Given the description of an element on the screen output the (x, y) to click on. 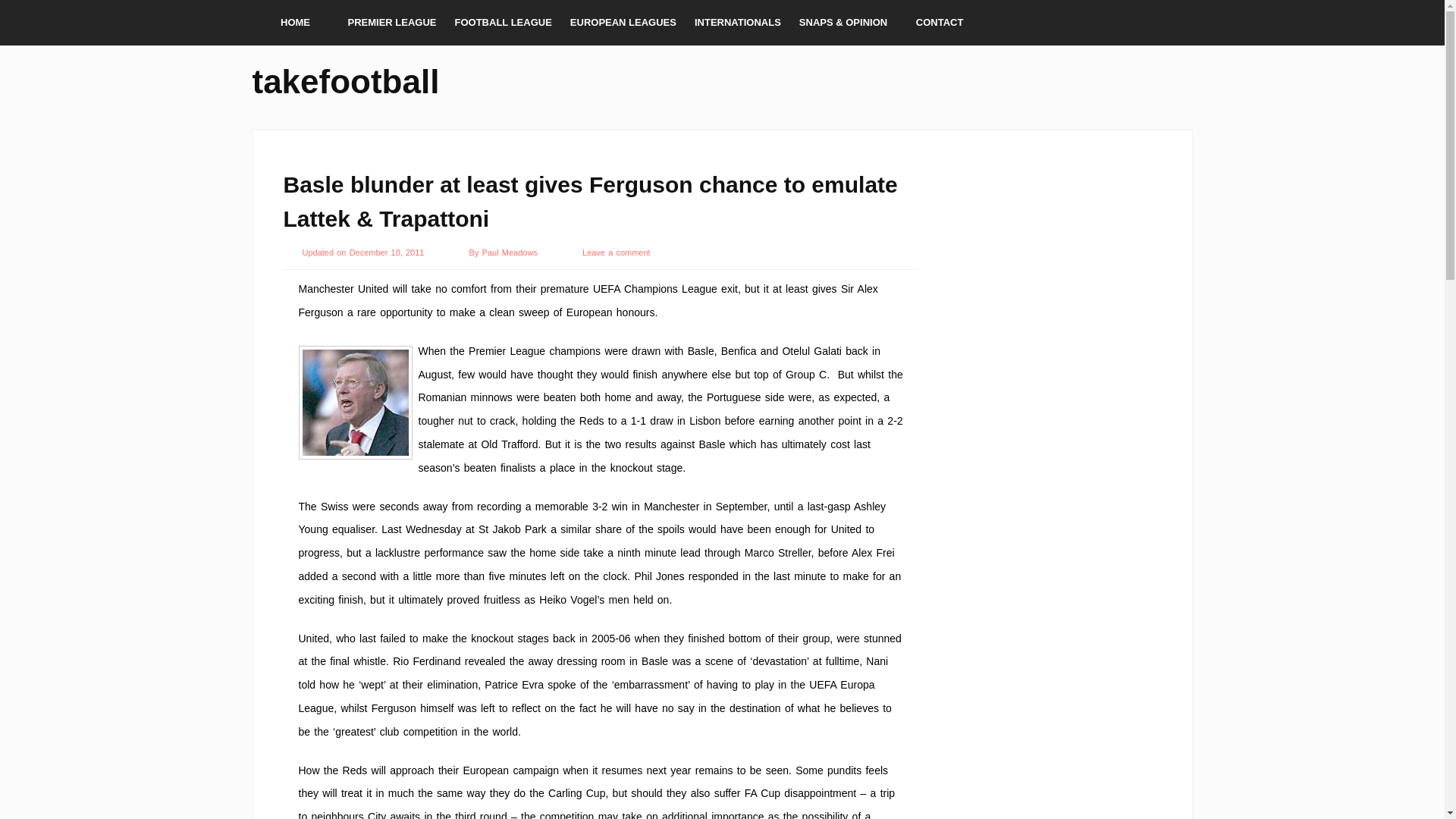
CONTACT (939, 22)
FOOTBALL LEAGUE (502, 22)
takefootball (345, 79)
INTERNATIONALS (737, 22)
EUROPEAN LEAGUES (622, 22)
Leave a comment (616, 252)
Paul Meadows (510, 252)
PREMIER LEAGUE (391, 22)
HOME (294, 22)
Sir Alex Ferguson (355, 402)
